Given the description of an element on the screen output the (x, y) to click on. 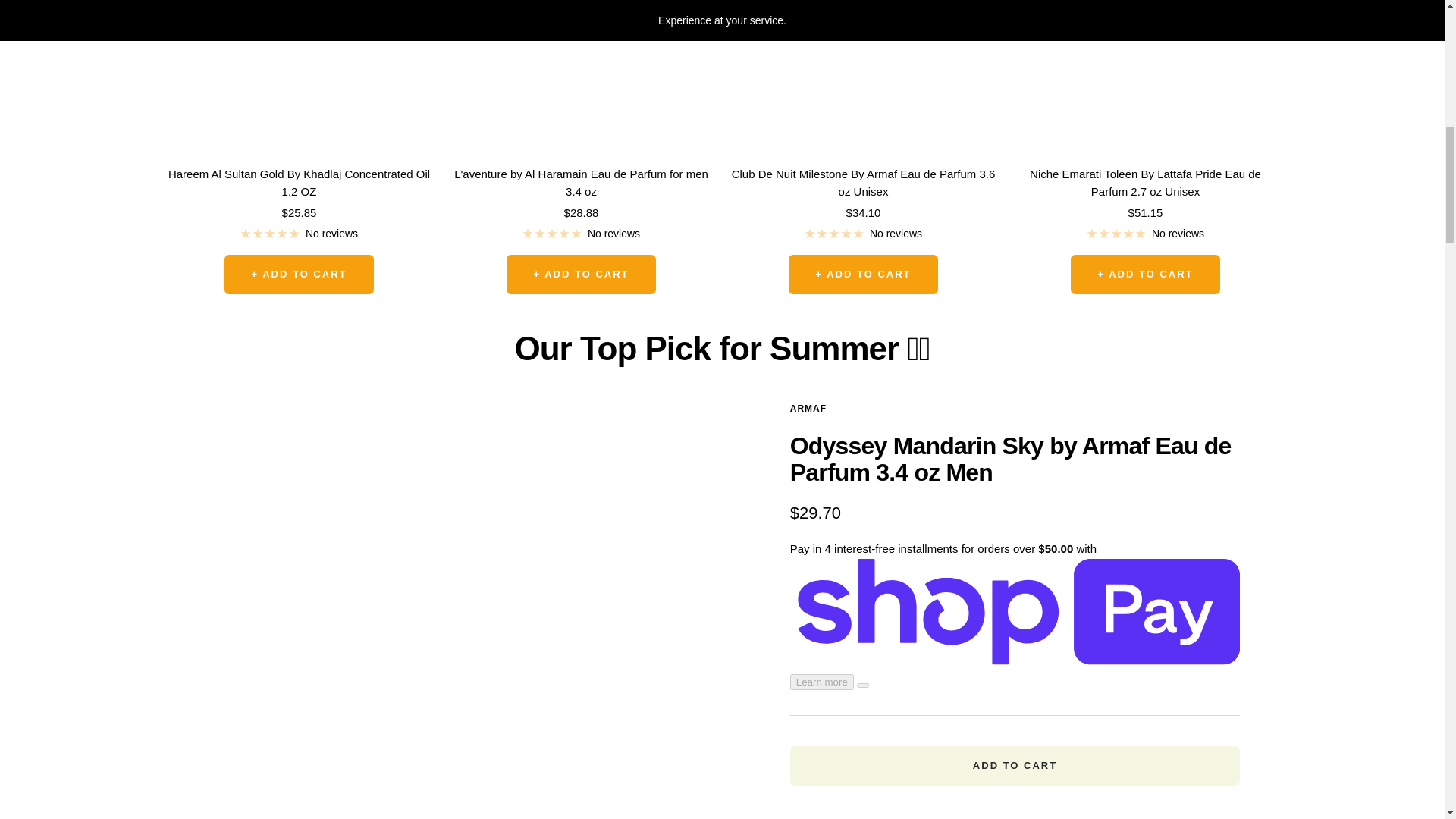
No reviews (298, 233)
No reviews (1144, 233)
No reviews (862, 233)
Club De Nuit Milestone By Armaf Eau de Parfum 3.6 oz Unisex (862, 182)
No reviews (580, 233)
L'aventure by Al Haramain Eau de Parfum for men 3.4 oz (580, 182)
Hareem Al Sultan Gold By Khadlaj Concentrated Oil 1.2 OZ (298, 182)
